Given the description of an element on the screen output the (x, y) to click on. 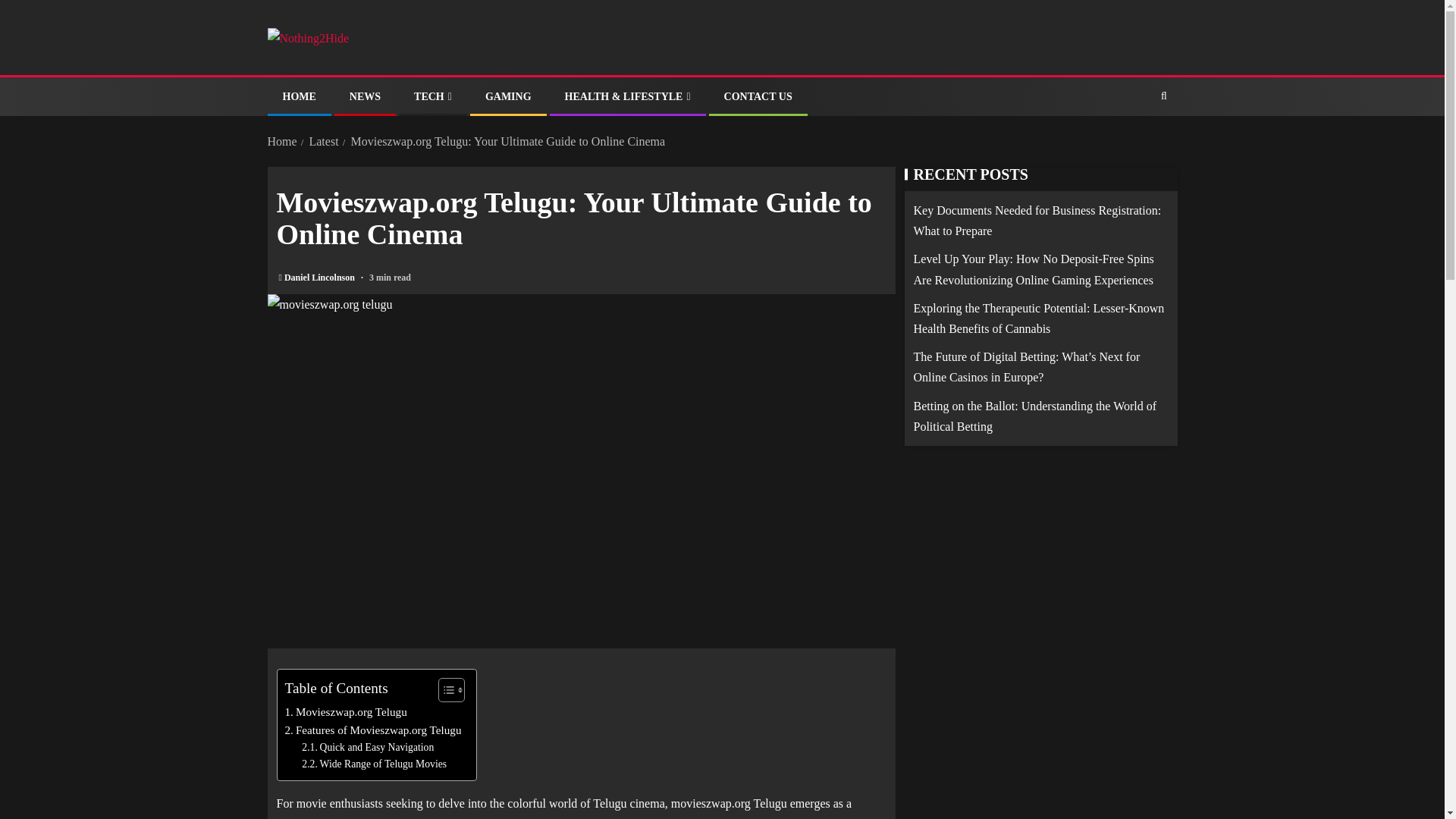
TECH (432, 96)
Daniel Lincolnson (319, 276)
CONTACT US (757, 96)
Movieszwap.org Telugu: Your Ultimate Guide to Online Cinema (507, 141)
Quick and Easy Navigation (367, 747)
Movieszwap.org Telugu (346, 711)
Search (1133, 142)
Features of Movieszwap.org Telugu (373, 730)
